Given the description of an element on the screen output the (x, y) to click on. 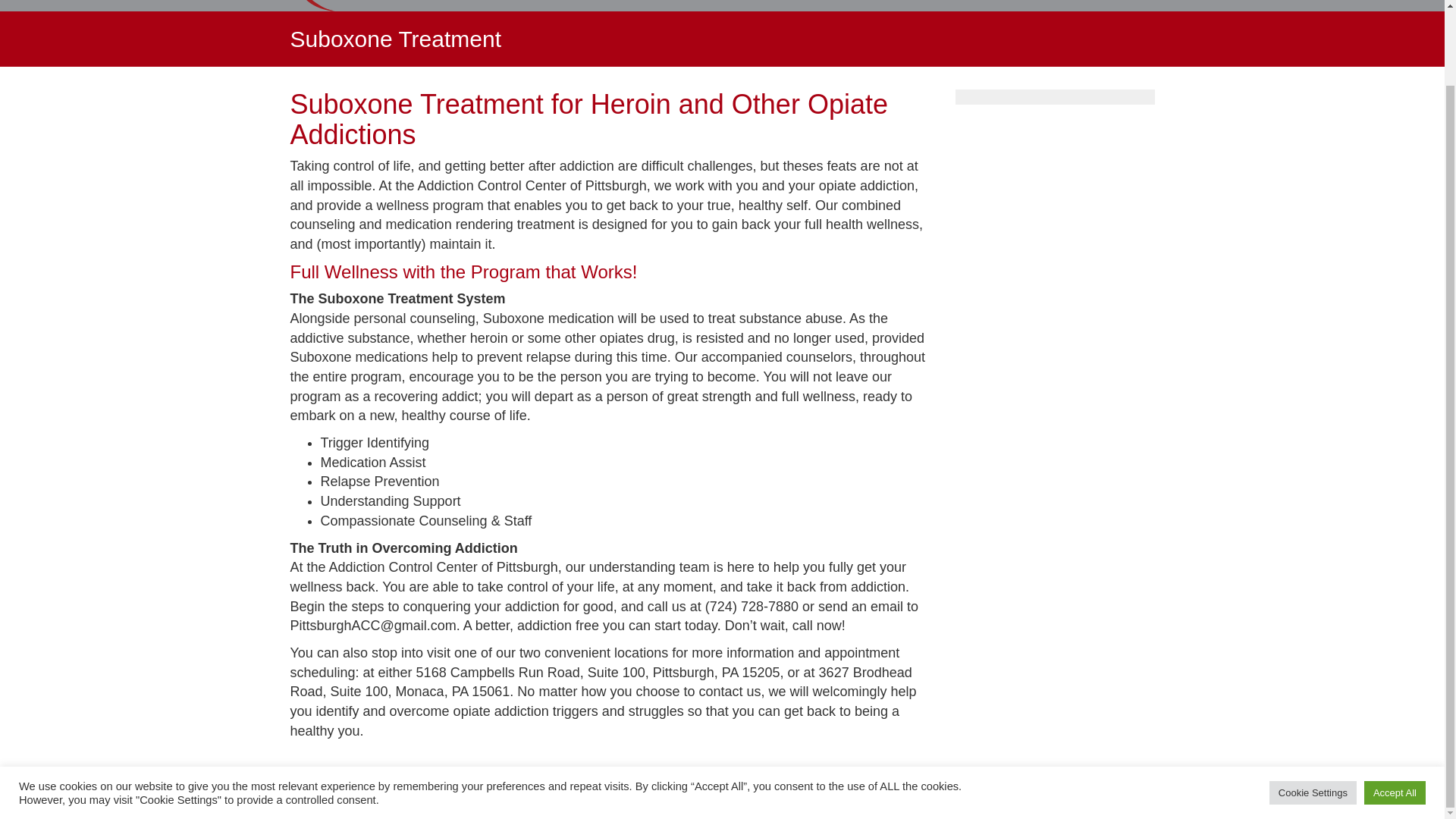
Cookie Settings (1312, 708)
Web Design (996, 794)
Accept All (1394, 708)
